Given the description of an element on the screen output the (x, y) to click on. 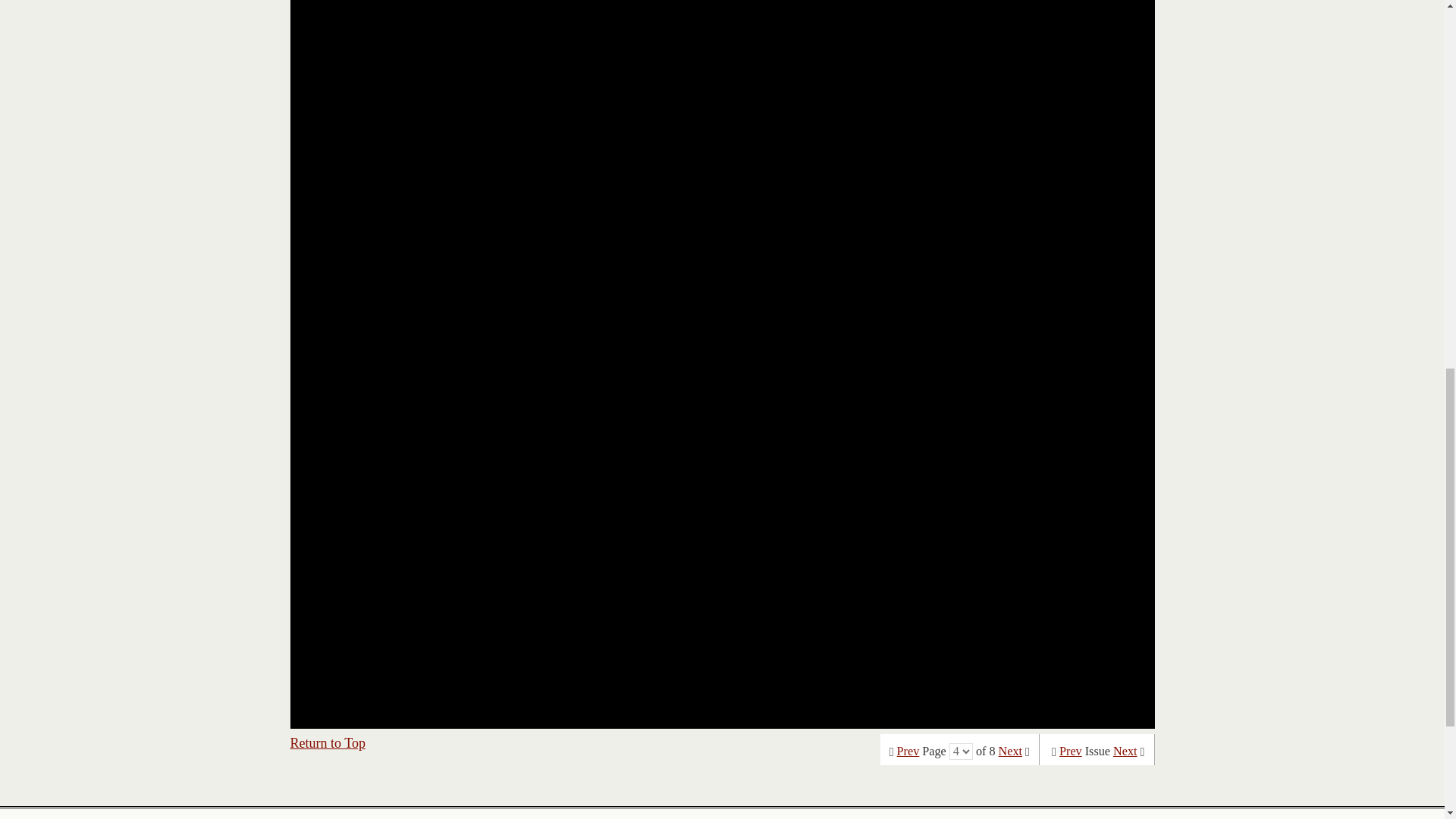
Prev (908, 751)
Return to Top (327, 743)
Next (1010, 751)
Next (1125, 751)
Prev (1070, 751)
